Given the description of an element on the screen output the (x, y) to click on. 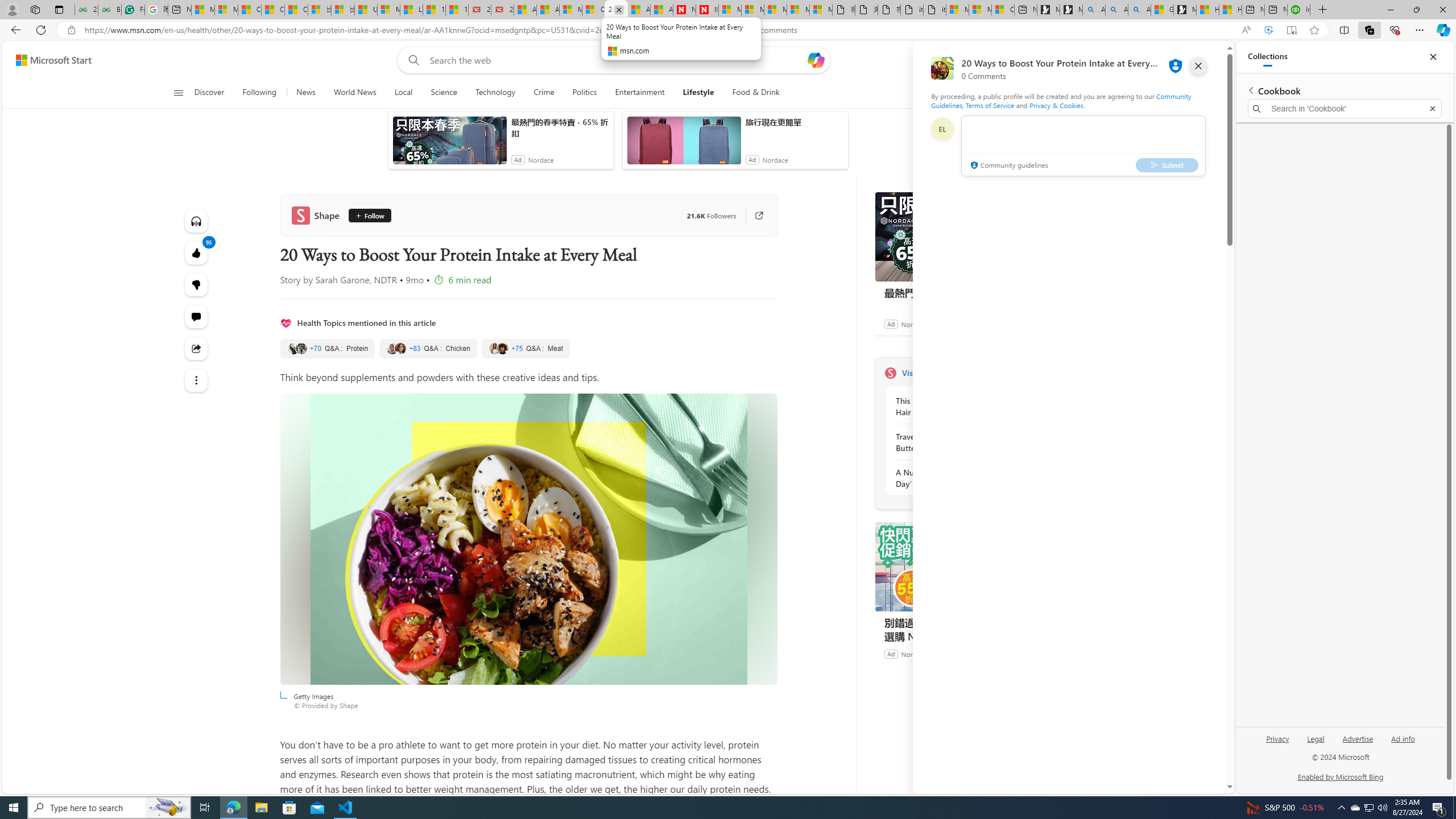
Politics (584, 92)
Intuit QuickBooks Online - Quickbooks (1298, 9)
Crime (543, 92)
comment-box (1082, 145)
News (305, 92)
Start the conversation (196, 316)
Back to list of collections (1250, 90)
21 Movies That Outdid the Books They Were Based On (502, 9)
Lifestyle (697, 92)
Enhance video (1268, 29)
